Given the description of an element on the screen output the (x, y) to click on. 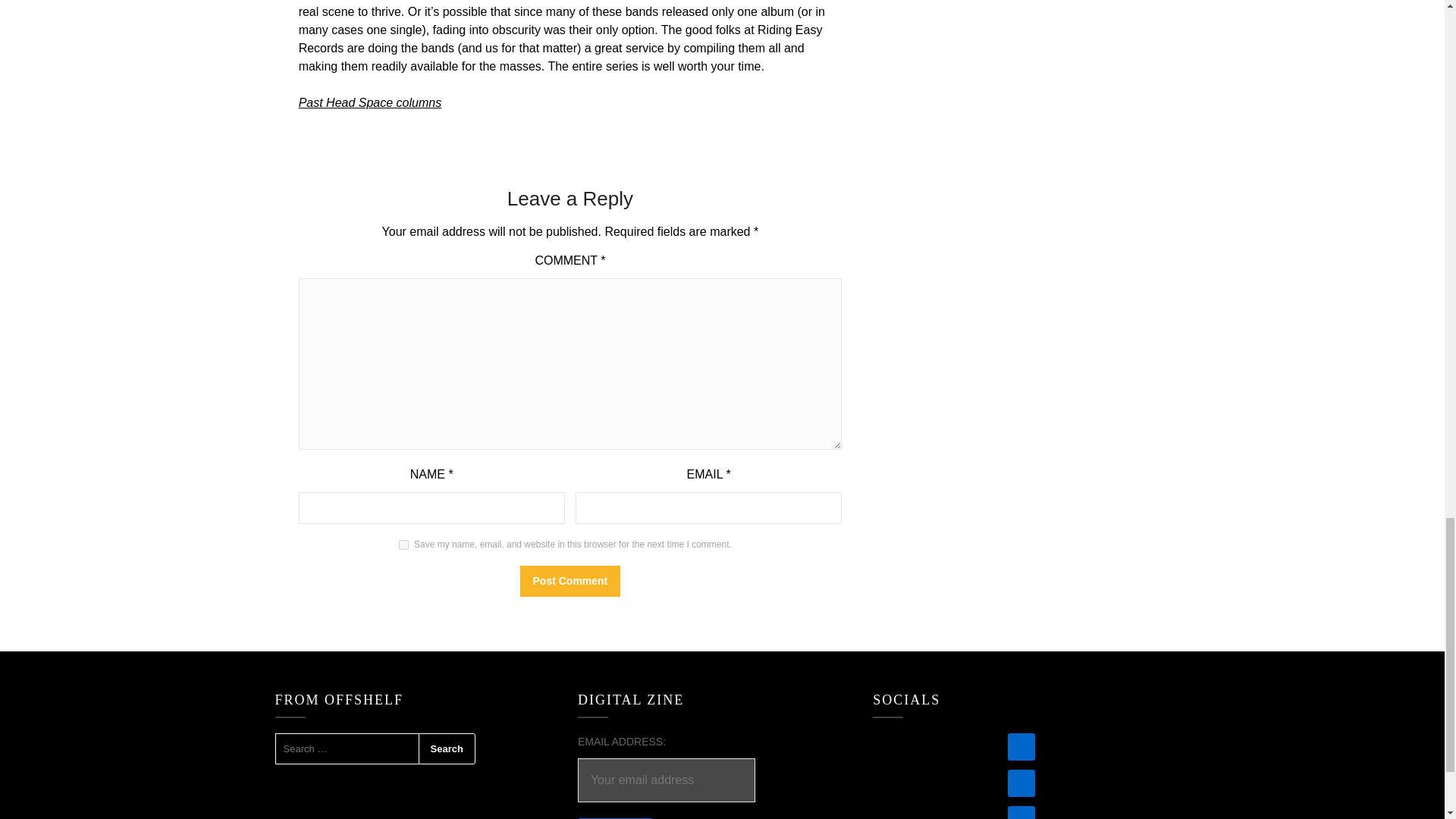
Past Head Space columns (370, 102)
Post Comment (570, 581)
yes (403, 544)
Search (447, 748)
Post Comment (570, 581)
Search (447, 748)
